Given the description of an element on the screen output the (x, y) to click on. 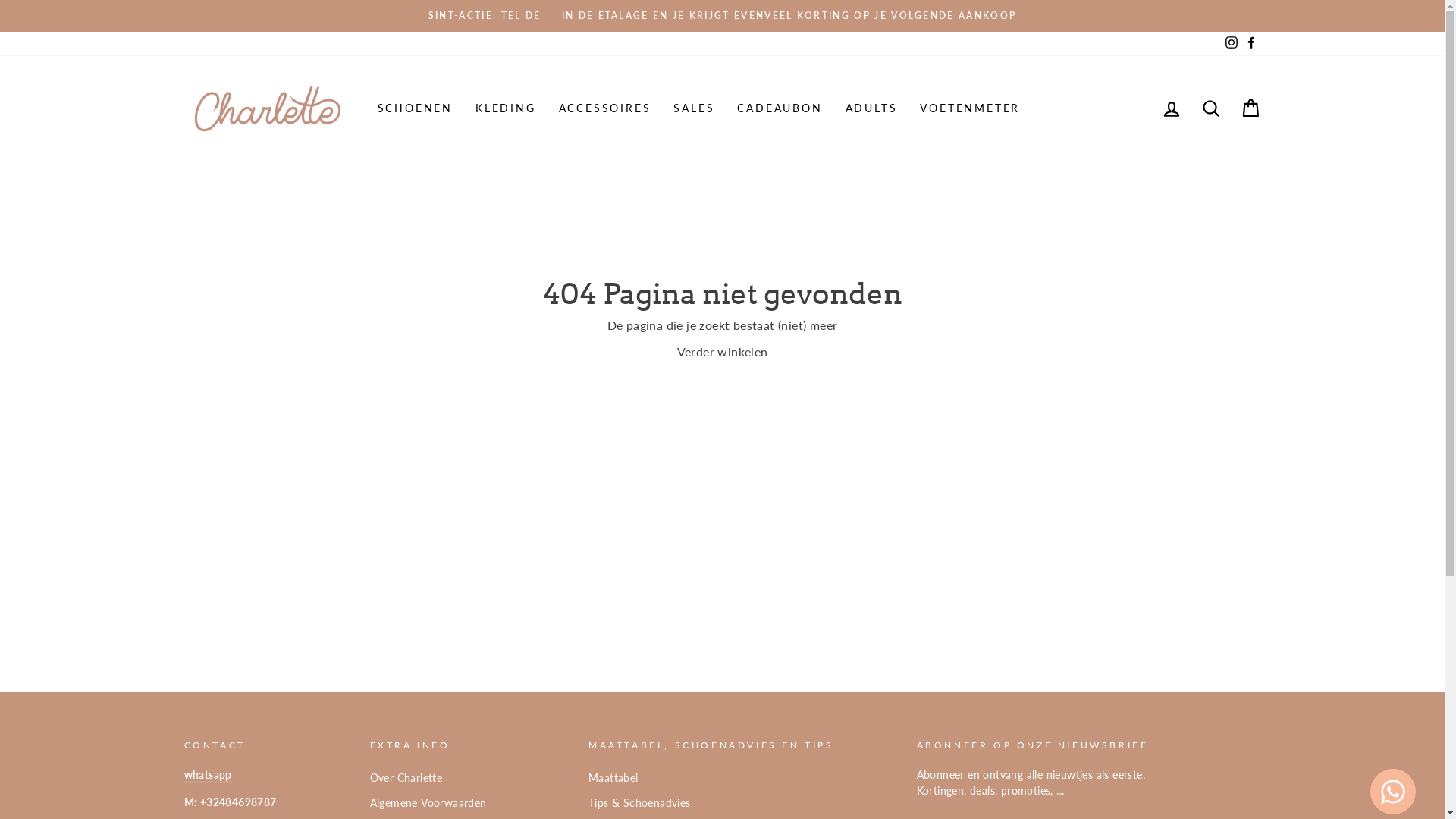
CADEAUBON Element type: text (779, 108)
SALES Element type: text (693, 108)
Verder naar inhoud Element type: text (0, 0)
Maattabel Element type: text (613, 778)
KLEDING Element type: text (505, 108)
whatsapp Element type: text (207, 775)
ADULTS Element type: text (871, 108)
Algemene Voorwaarden Element type: text (428, 803)
Over Charlette Element type: text (406, 778)
WINKELMANDJE Element type: text (1249, 108)
Tips & Schoenadvies Element type: text (639, 803)
Facebook Element type: text (1250, 43)
INLOGGEN Element type: text (1170, 108)
Instagram Element type: text (1230, 43)
ZOEK Element type: text (1210, 108)
VOETENMETER Element type: text (969, 108)
ACCESSOIRES Element type: text (604, 108)
Verder winkelen Element type: text (721, 352)
SCHOENEN Element type: text (414, 108)
